Given the description of an element on the screen output the (x, y) to click on. 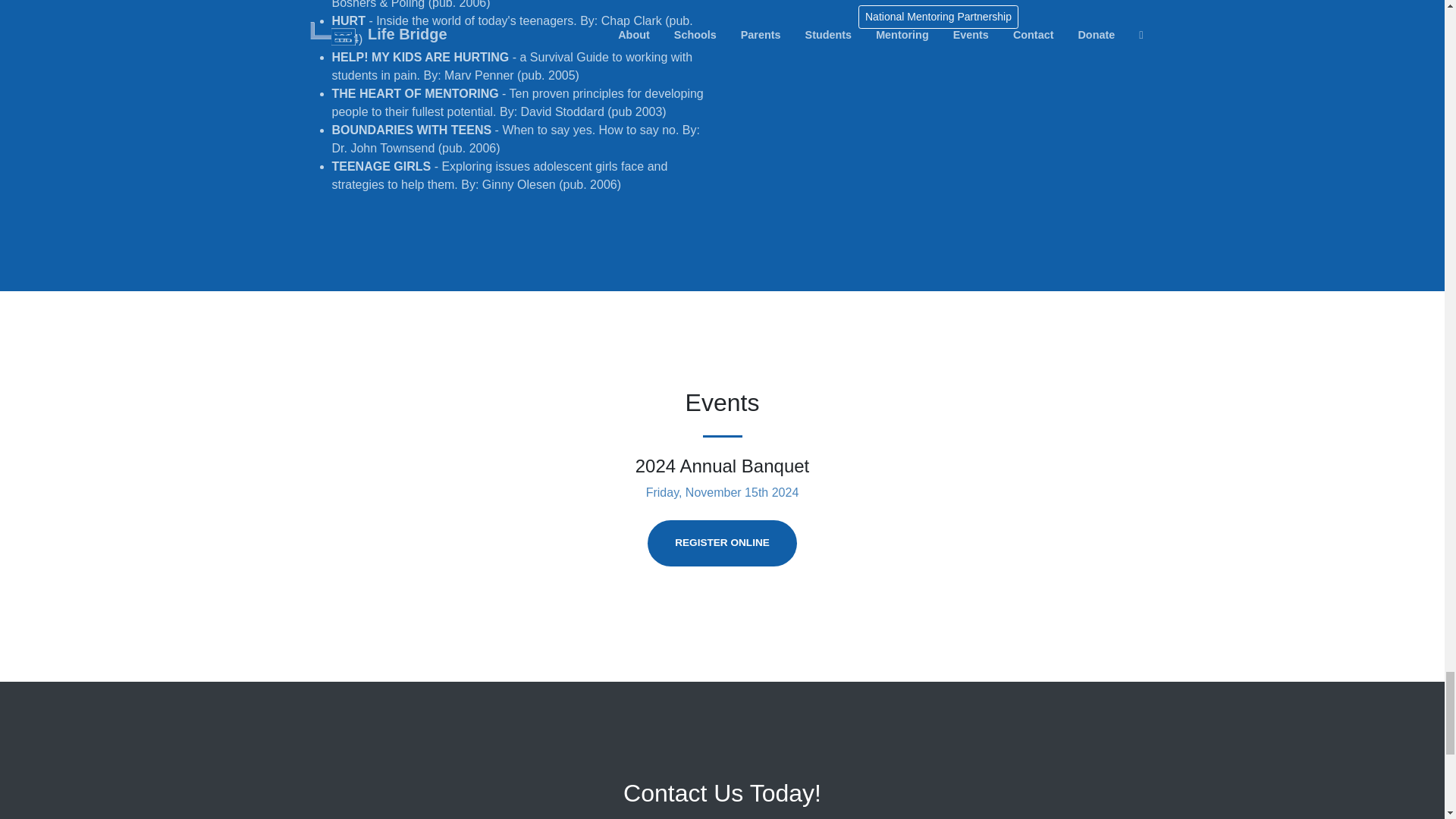
REGISTER ONLINE (721, 542)
National Mentoring Partnership (938, 16)
REGISTER ONLINE (721, 542)
